Given the description of an element on the screen output the (x, y) to click on. 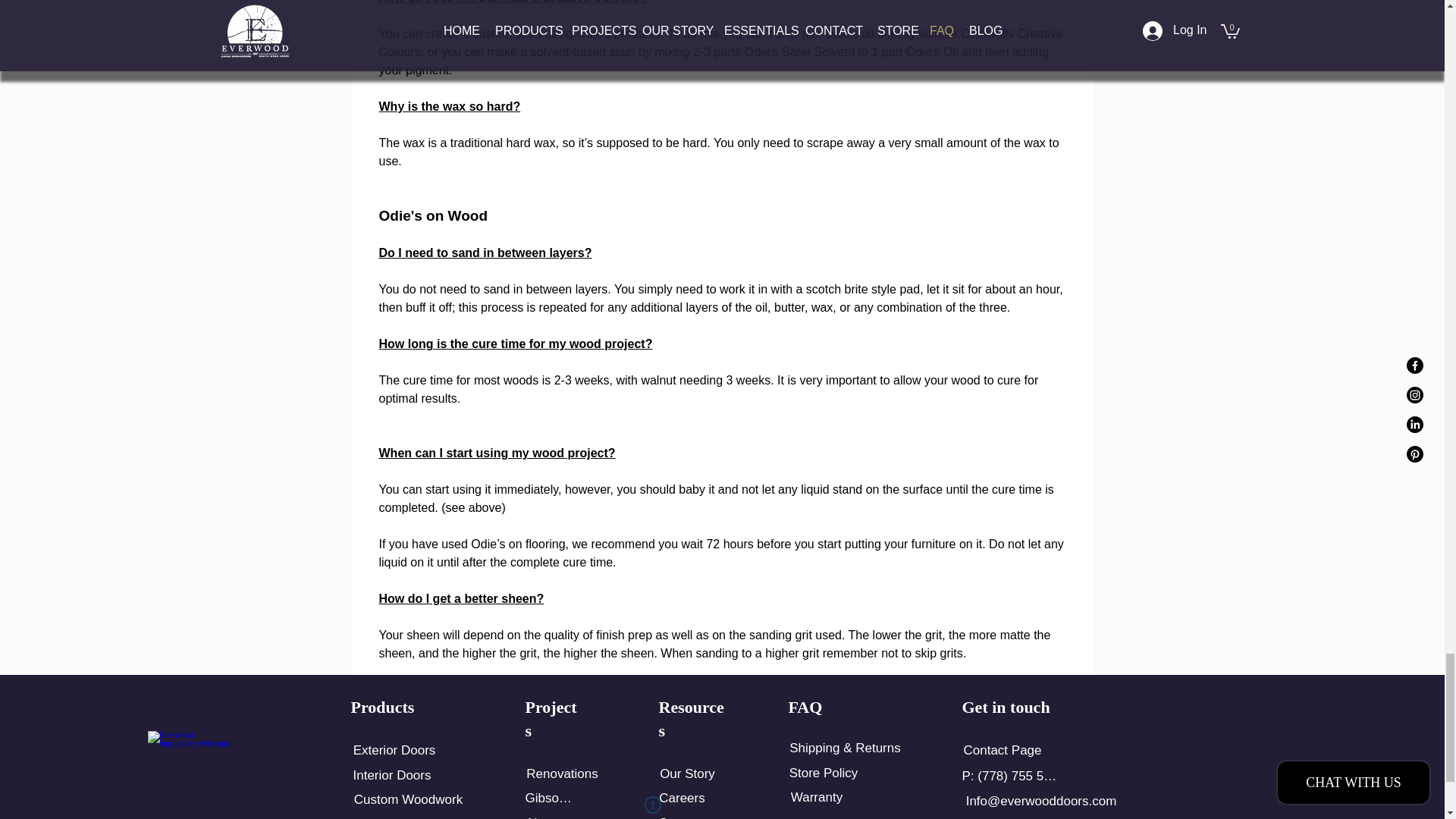
Products (381, 706)
